Given the description of an element on the screen output the (x, y) to click on. 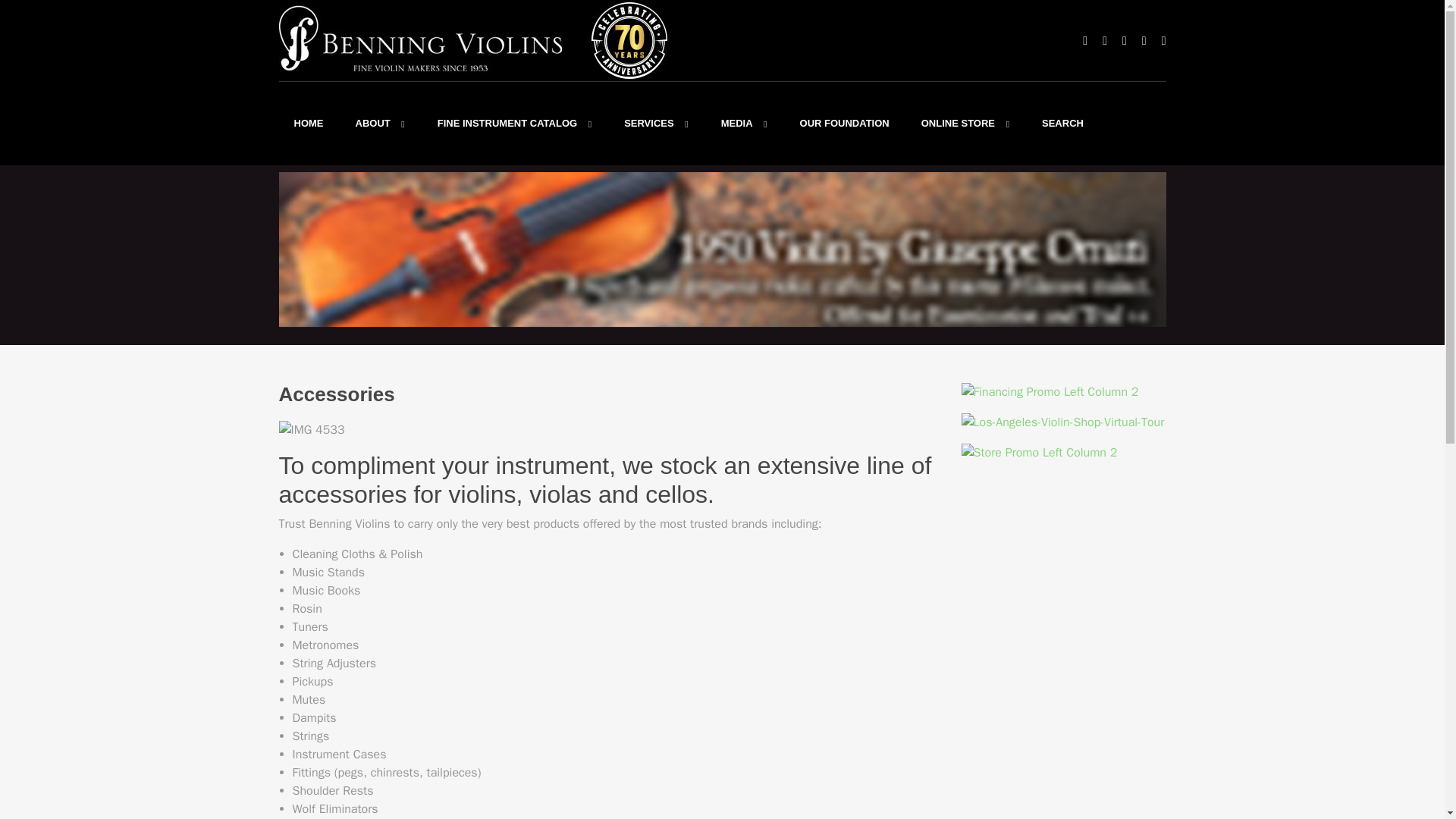
SERVICES (656, 123)
HOME (309, 123)
ABOUT (380, 123)
FINE INSTRUMENT CATALOG (515, 123)
